Given the description of an element on the screen output the (x, y) to click on. 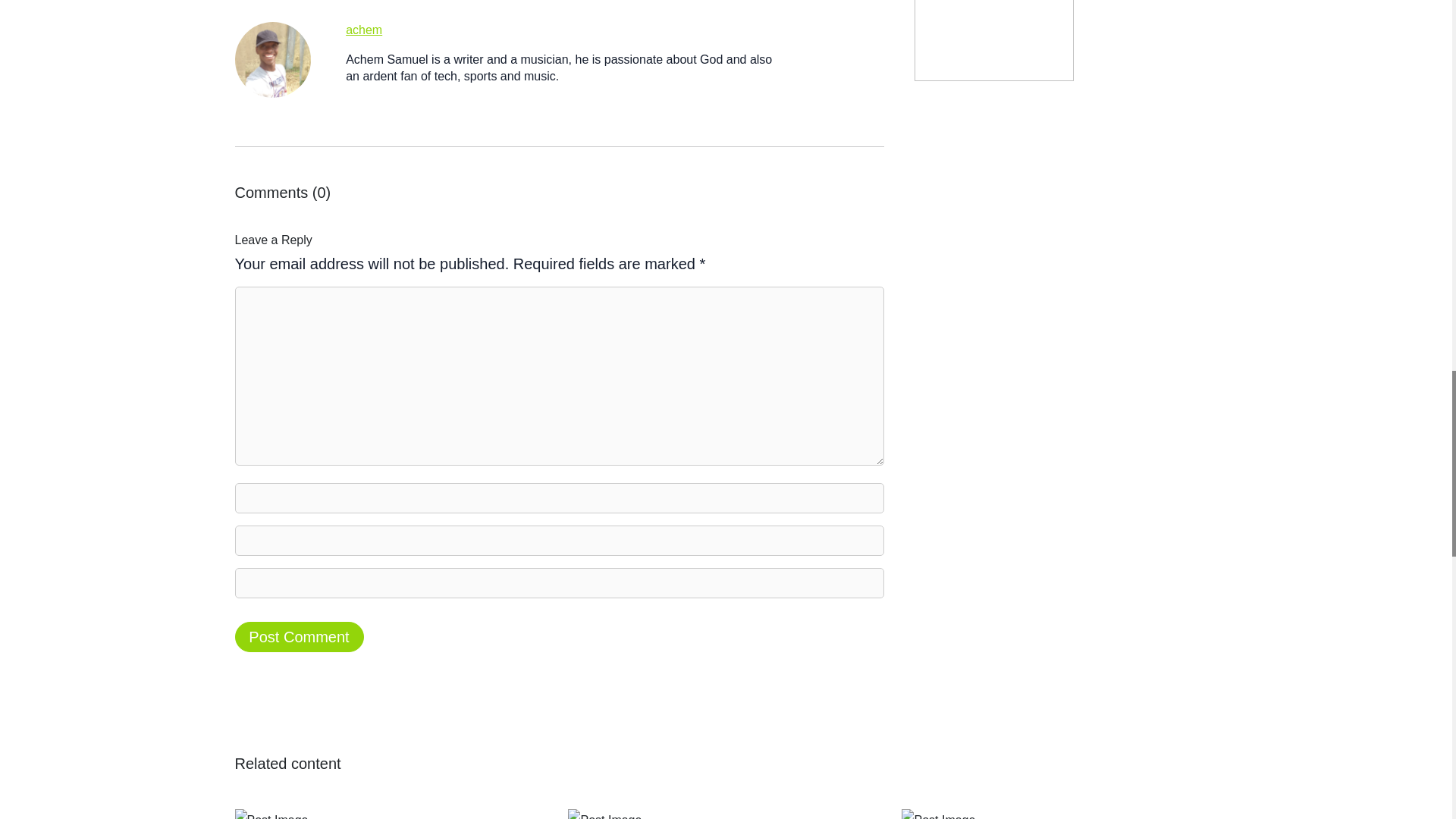
achem (363, 29)
Post Comment (299, 636)
